Given the description of an element on the screen output the (x, y) to click on. 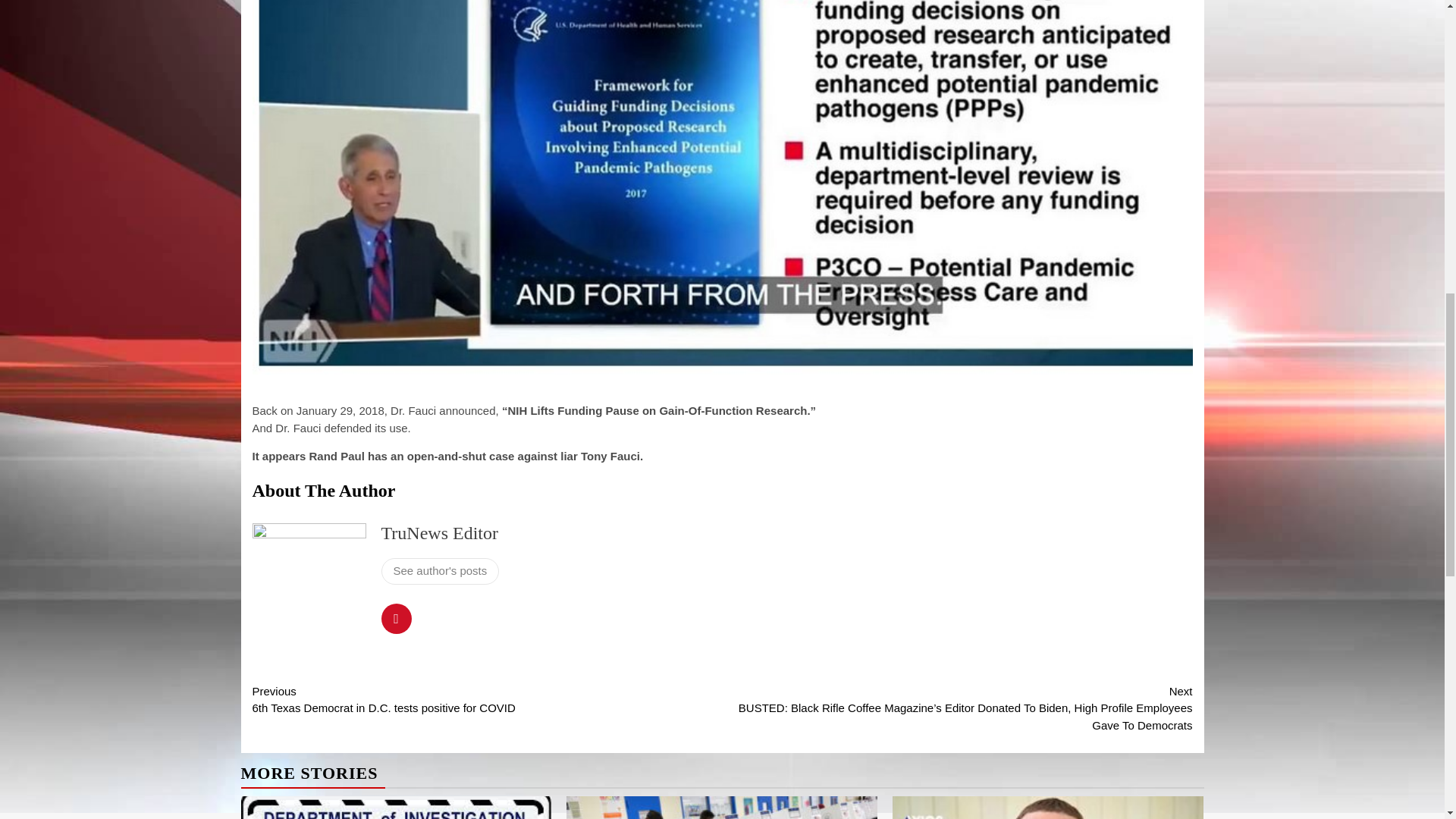
See author's posts (439, 570)
TruNews Editor (438, 532)
